Given the description of an element on the screen output the (x, y) to click on. 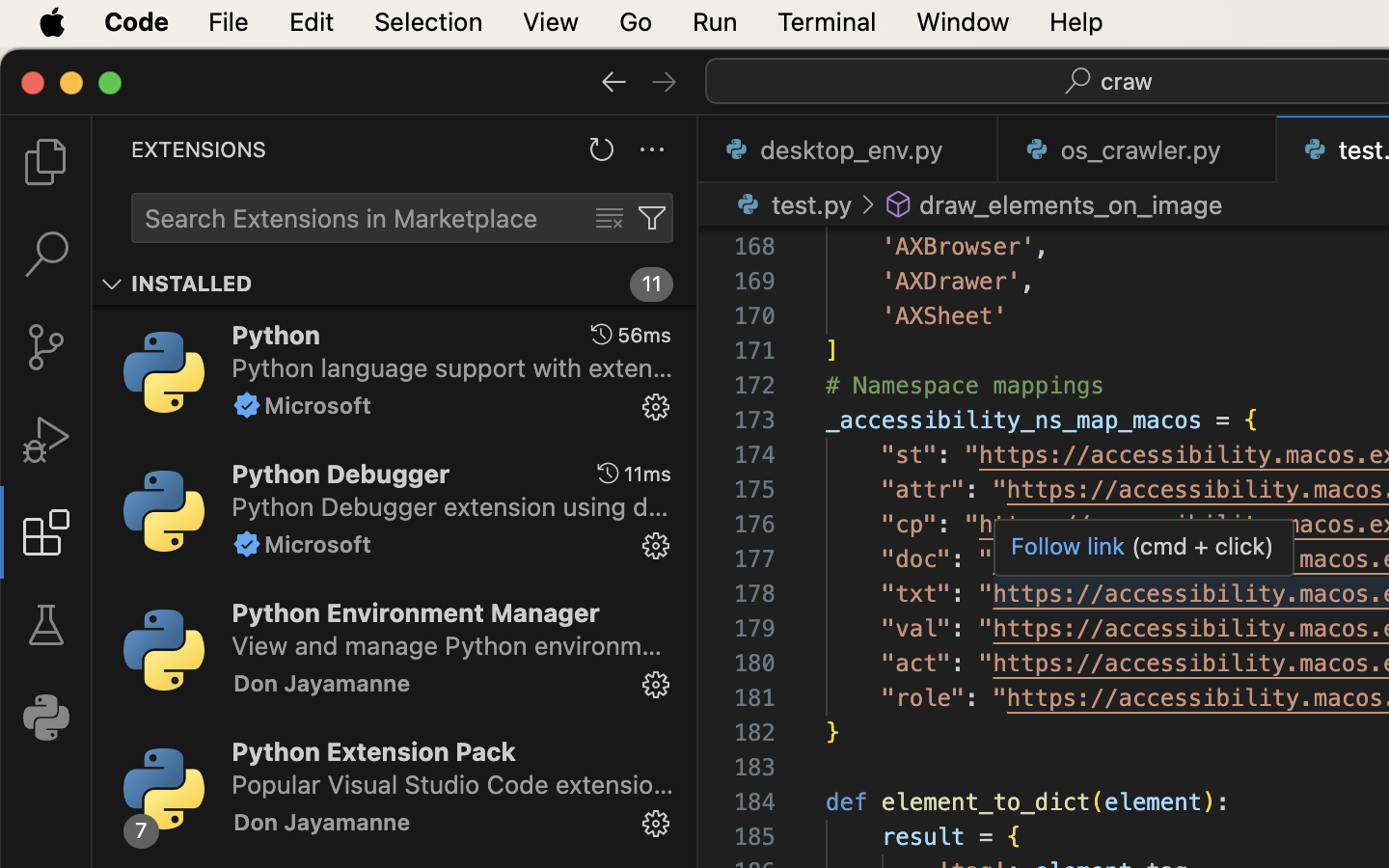
Python Extension Pack Element type: AXStaticText (374, 750)
Microsoft Element type: AXStaticText (318, 404)
 Element type: AXButton (614, 80)
INSTALLED Element type: AXStaticText (191, 284)
craw Element type: AXStaticText (1127, 80)
